Given the description of an element on the screen output the (x, y) to click on. 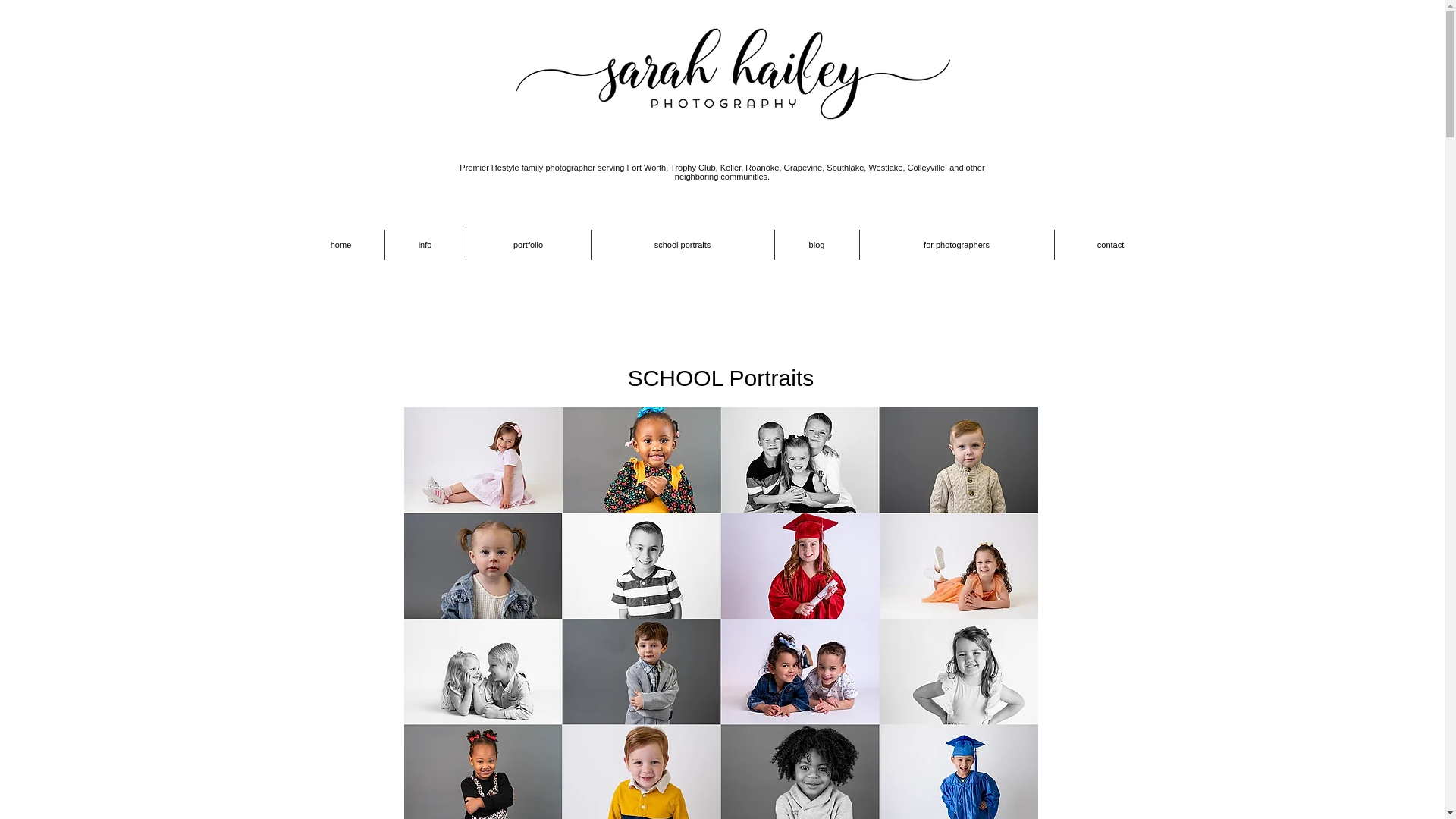
home (340, 245)
blog (816, 245)
contact (1110, 245)
for photographers (957, 245)
school portraits (682, 245)
